Given the description of an element on the screen output the (x, y) to click on. 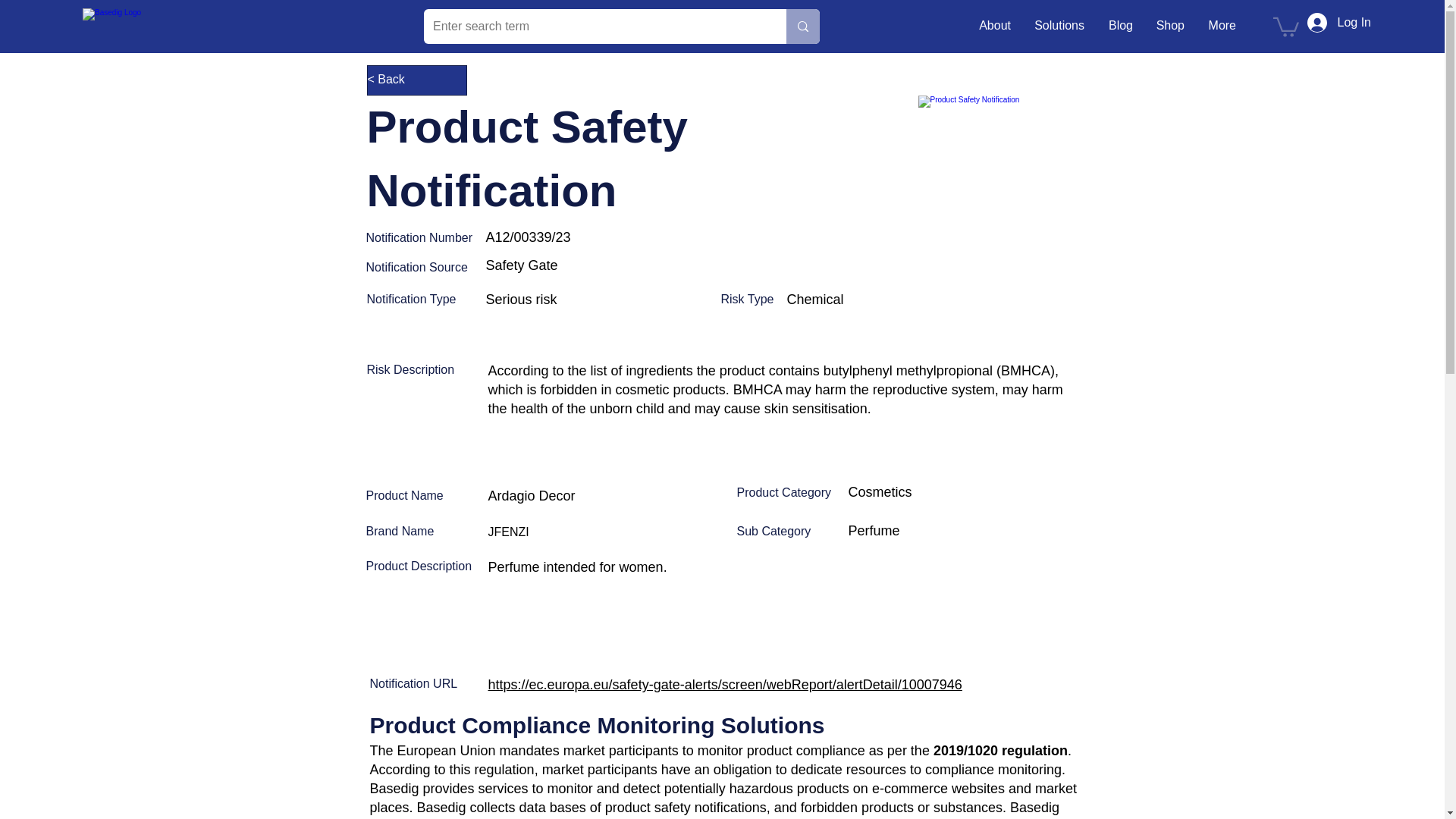
Log In (1339, 22)
Shop (1169, 25)
About (993, 25)
Blog (1120, 25)
Solutions (1059, 25)
